Given the description of an element on the screen output the (x, y) to click on. 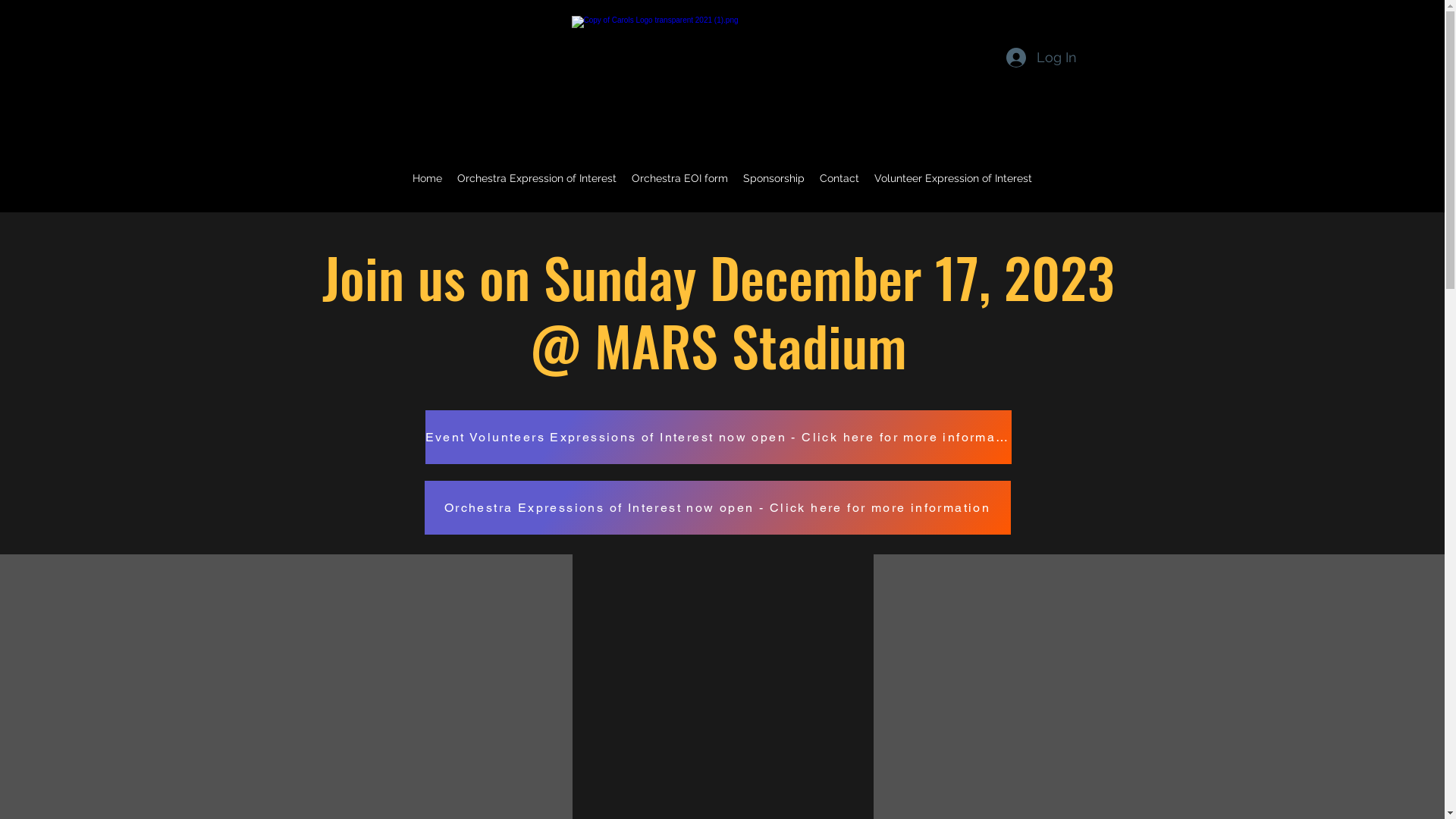
Log In Element type: text (1039, 57)
Home Element type: text (426, 177)
Orchestra EOI form Element type: text (679, 177)
Volunteer Expression of Interest Element type: text (952, 177)
Contact Element type: text (839, 177)
Orchestra Expression of Interest Element type: text (536, 177)
